Given the description of an element on the screen output the (x, y) to click on. 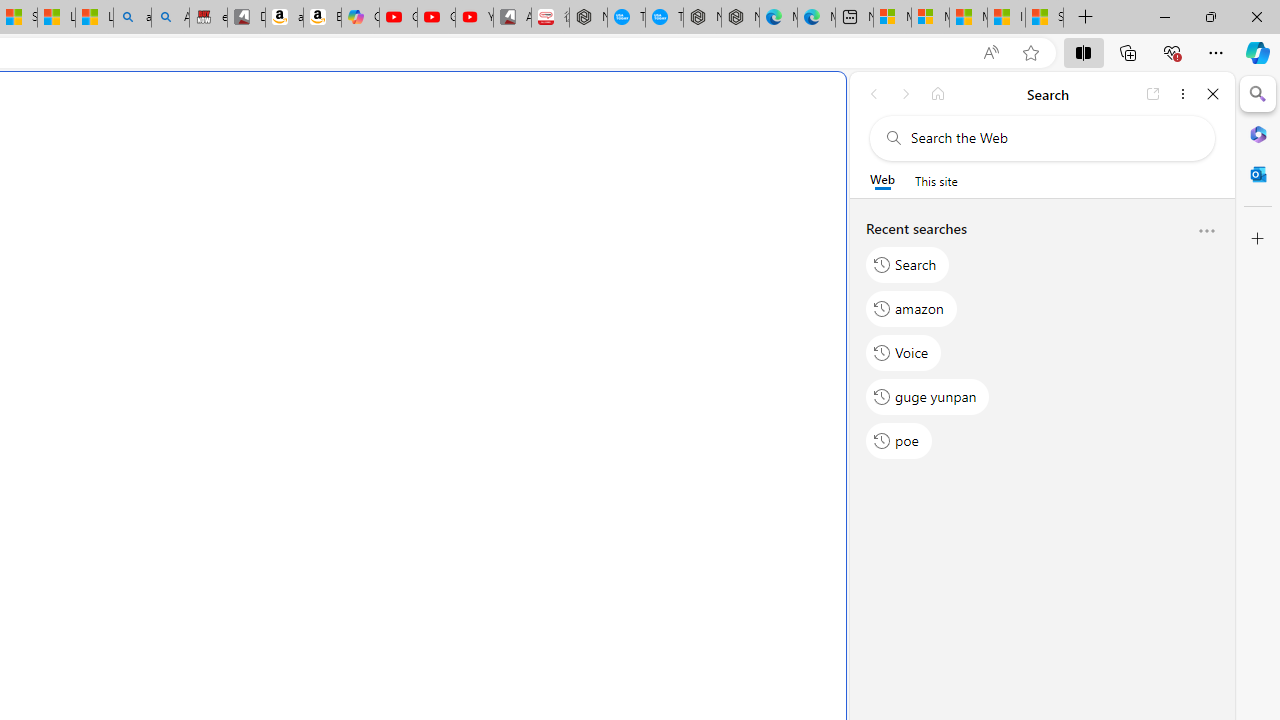
Amazon Echo Dot PNG - Search Images (170, 17)
Nordace - My Account (587, 17)
Customize (1258, 239)
All Cubot phones (512, 17)
Outlook (1258, 174)
